Given the description of an element on the screen output the (x, y) to click on. 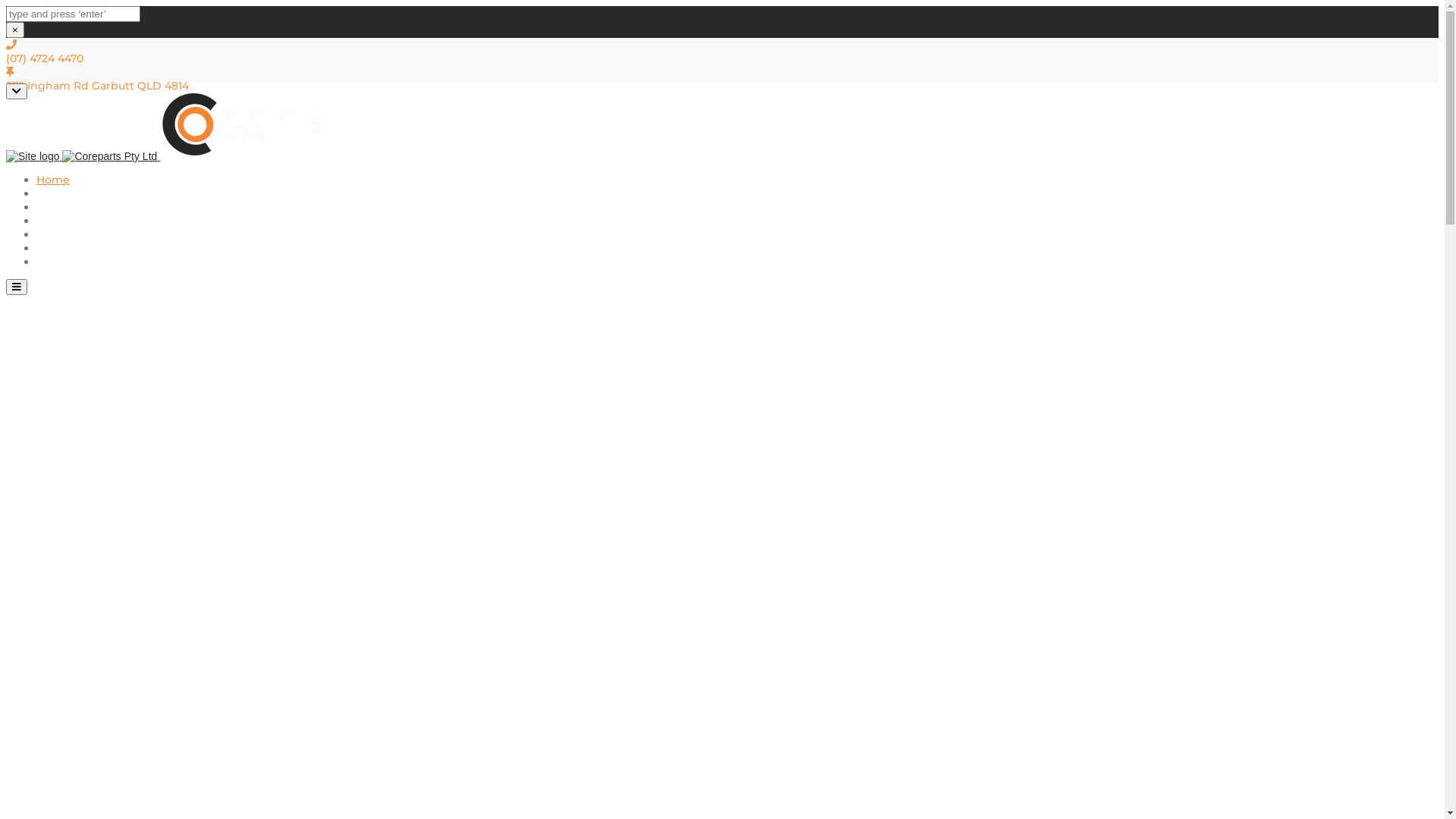
Extended Life Brakes Element type: text (94, 206)
Home Element type: text (52, 179)
Contact Us Element type: text (66, 261)
Surplus Parts Element type: text (72, 247)
Brake Valves Element type: text (70, 234)
Close top bar Element type: text (16, 91)
Caliper Rebuilds Element type: text (80, 193)
Toggle navigation Element type: text (16, 286)
Brake Calipers Element type: text (75, 220)
